Given the description of an element on the screen output the (x, y) to click on. 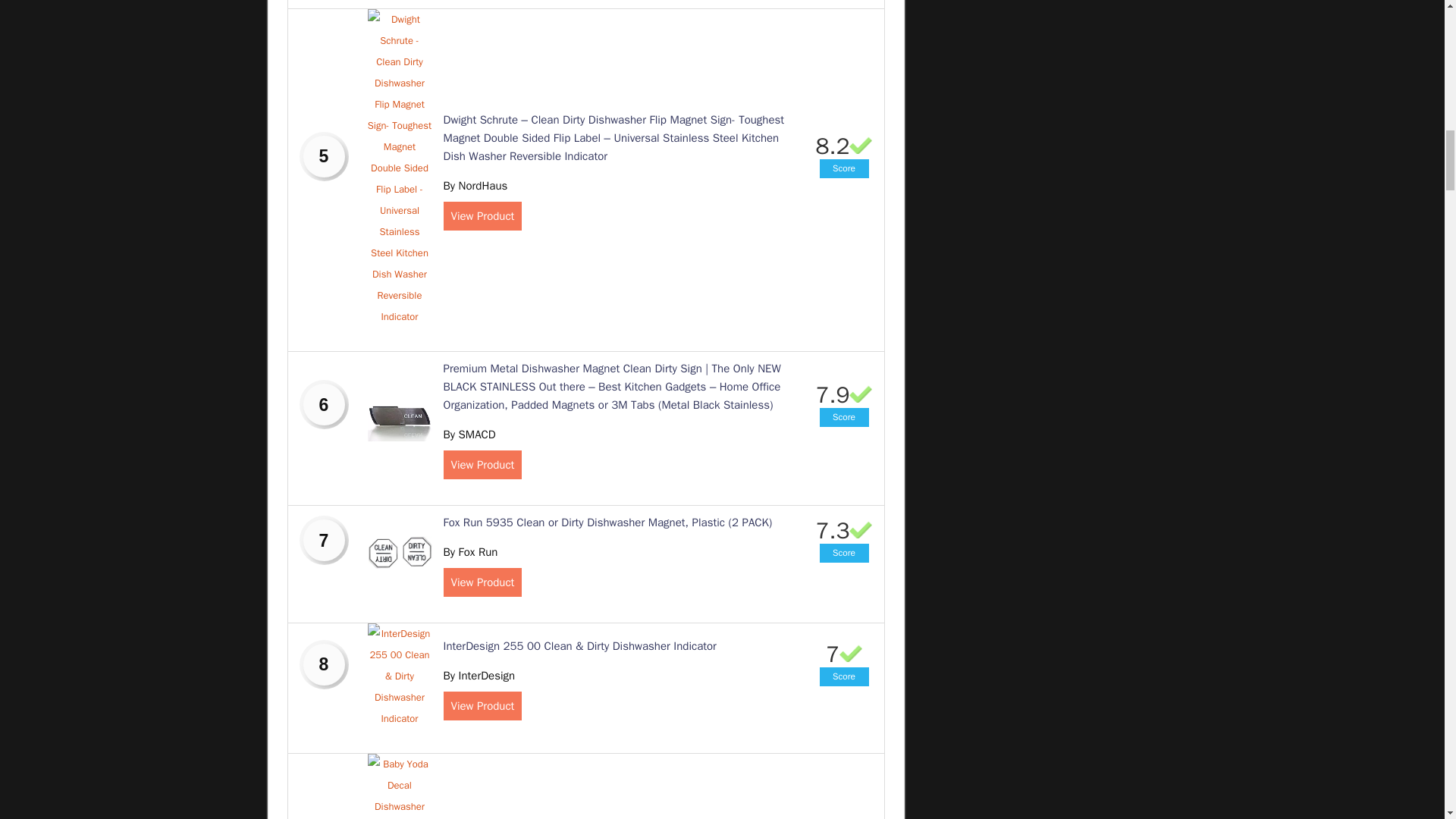
View Product (481, 215)
View Product (481, 582)
By Fox Run (469, 551)
By NordHaus (474, 185)
View Product (481, 464)
By SMACD (468, 434)
